Given the description of an element on the screen output the (x, y) to click on. 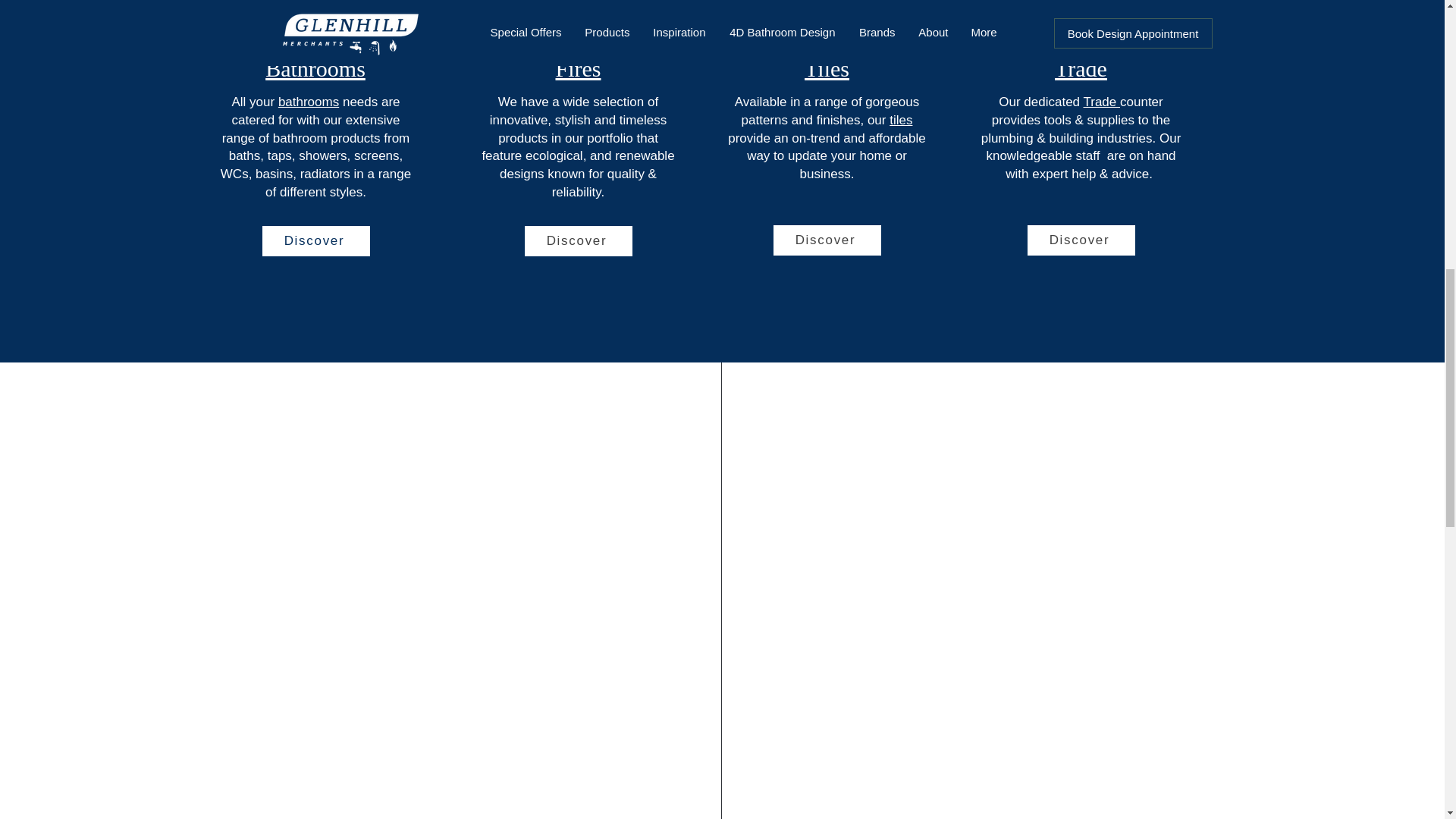
Tiles (826, 68)
Discover (1080, 240)
Discover (315, 241)
Discover (826, 240)
Bathrooms (314, 68)
bathrooms (308, 101)
Discover (577, 241)
Fires (576, 68)
tiles (900, 120)
Trade (1101, 101)
